Given the description of an element on the screen output the (x, y) to click on. 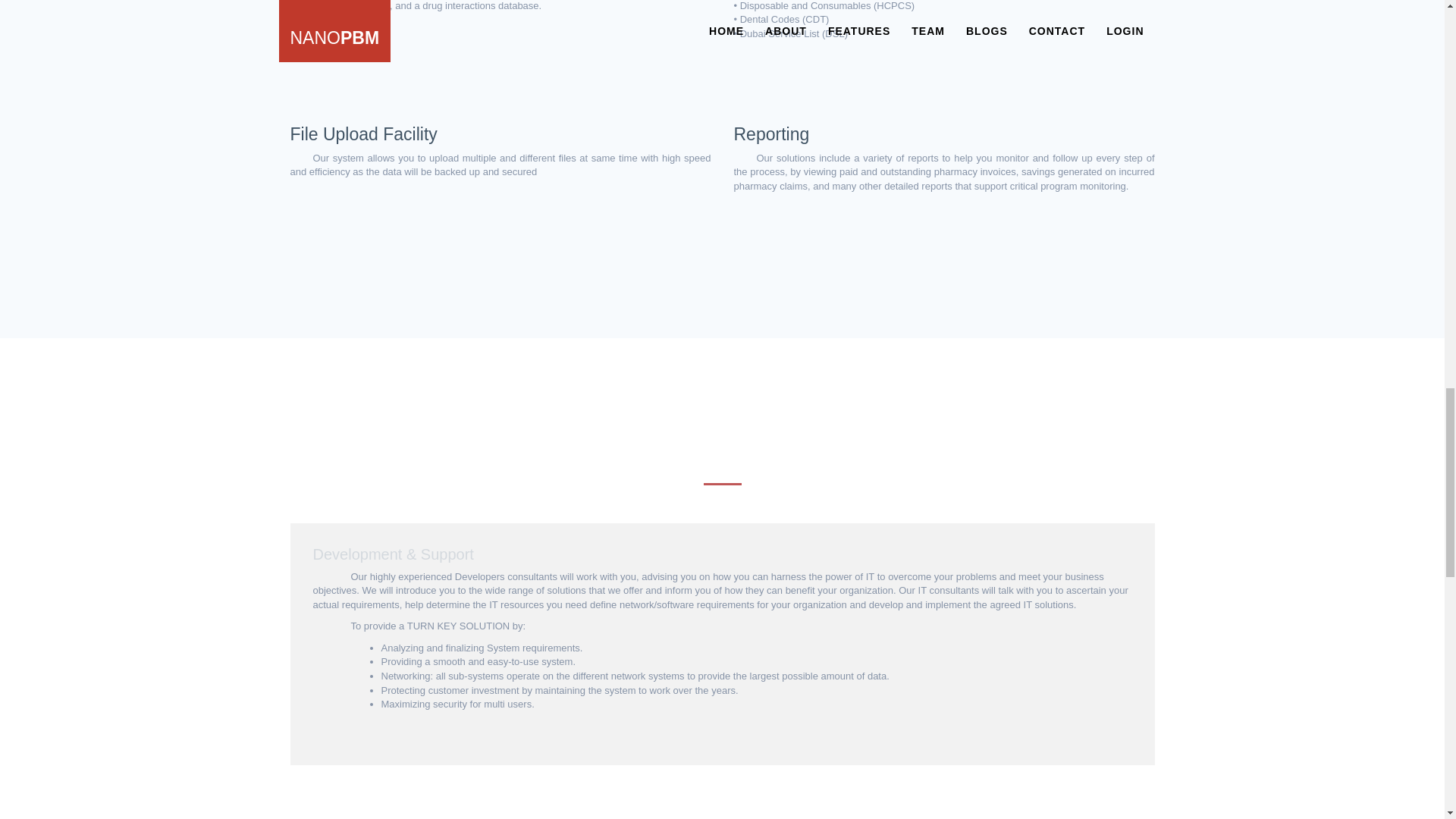
Reporting (771, 134)
File Upload Facility (362, 134)
